Given the description of an element on the screen output the (x, y) to click on. 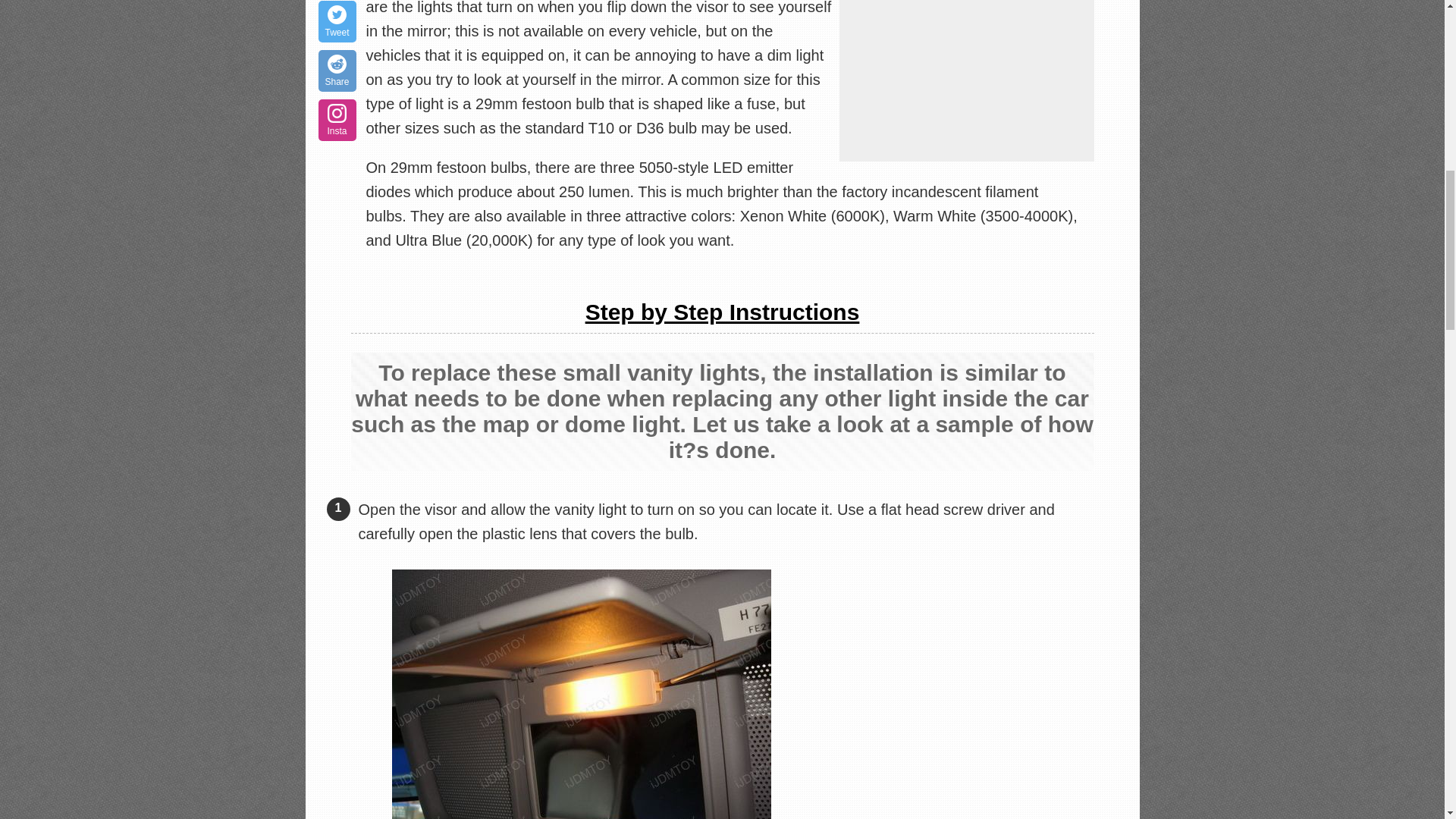
Tweet (337, 21)
Advertisement (965, 80)
Share (337, 70)
Step by Step Instructions (722, 311)
Insta (337, 119)
